Given the description of an element on the screen output the (x, y) to click on. 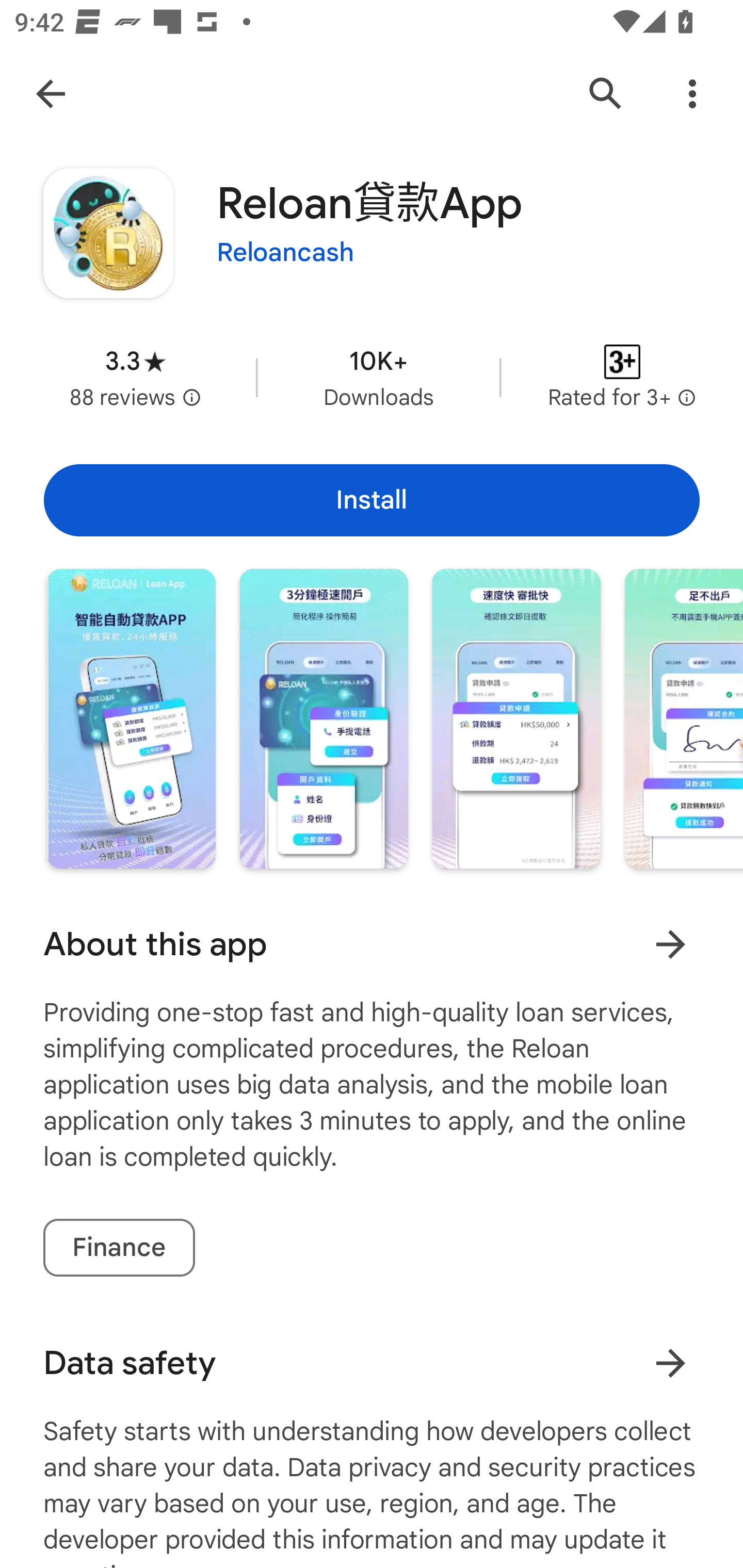
Navigate up (50, 93)
Search Google Play (605, 93)
More Options (692, 93)
Reloancash (284, 253)
Average rating 3.3 stars in 88 reviews (135, 377)
Content rating Rated for 3+ (622, 377)
Install (371, 500)
Screenshot "1" of "5" (130, 718)
Screenshot "2" of "5" (323, 718)
Screenshot "3" of "5" (515, 718)
Screenshot "4" of "5" (683, 718)
About this app Learn more About this app (371, 944)
Learn more About this app (670, 944)
Finance tag (118, 1247)
Data safety Learn more about data safety (371, 1363)
Learn more about data safety (670, 1363)
